Given the description of an element on the screen output the (x, y) to click on. 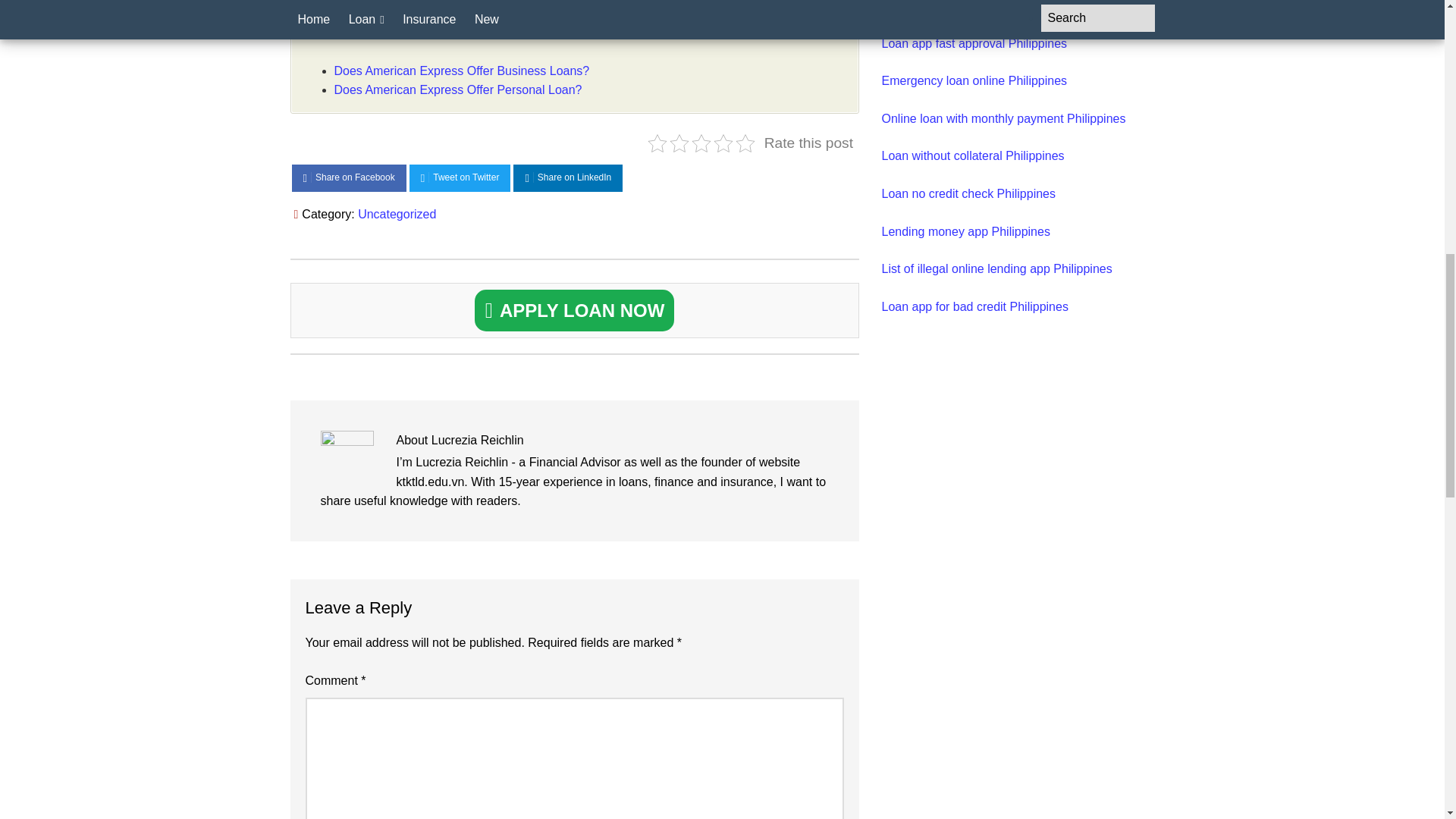
Share on LinkedIn (568, 178)
Loan without collateral Philippines (972, 155)
Tweet on Twitter (460, 178)
APPLY LOAN NOW (574, 310)
Online loan with monthly payment Philippines (1002, 118)
Share on Facebook (348, 178)
Uncategorized (396, 214)
Does American Express Offer Personal Loan? (456, 89)
Emergency loan online Philippines (973, 80)
Loan no credit check Philippines (967, 193)
